Given the description of an element on the screen output the (x, y) to click on. 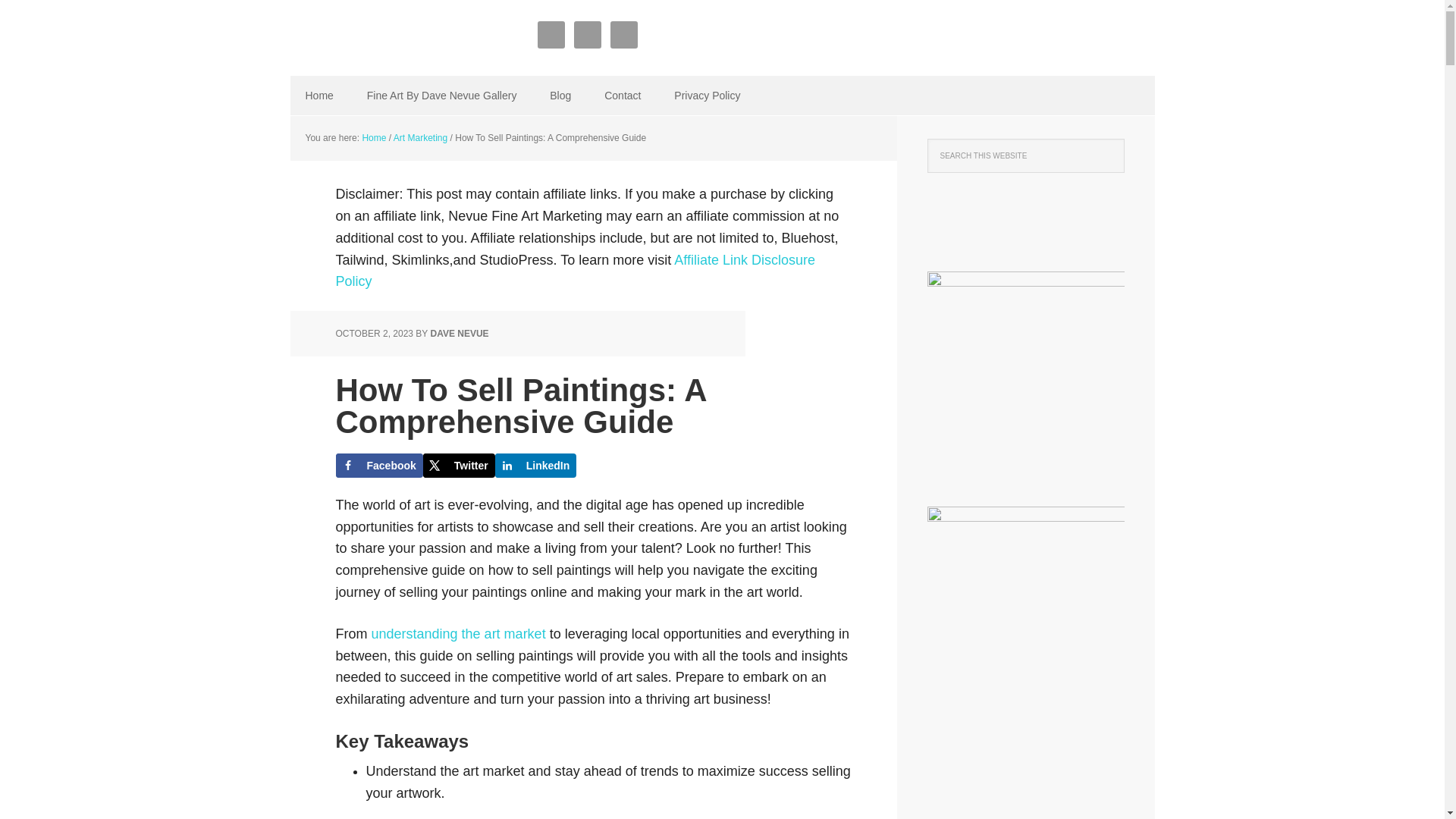
Share on X (459, 465)
Share on LinkedIn (535, 465)
Nevue Fine Art Marketing (387, 38)
Home (318, 96)
Facebook (378, 465)
Privacy Policy (707, 96)
Home (373, 137)
LinkedIn (535, 465)
